Given the description of an element on the screen output the (x, y) to click on. 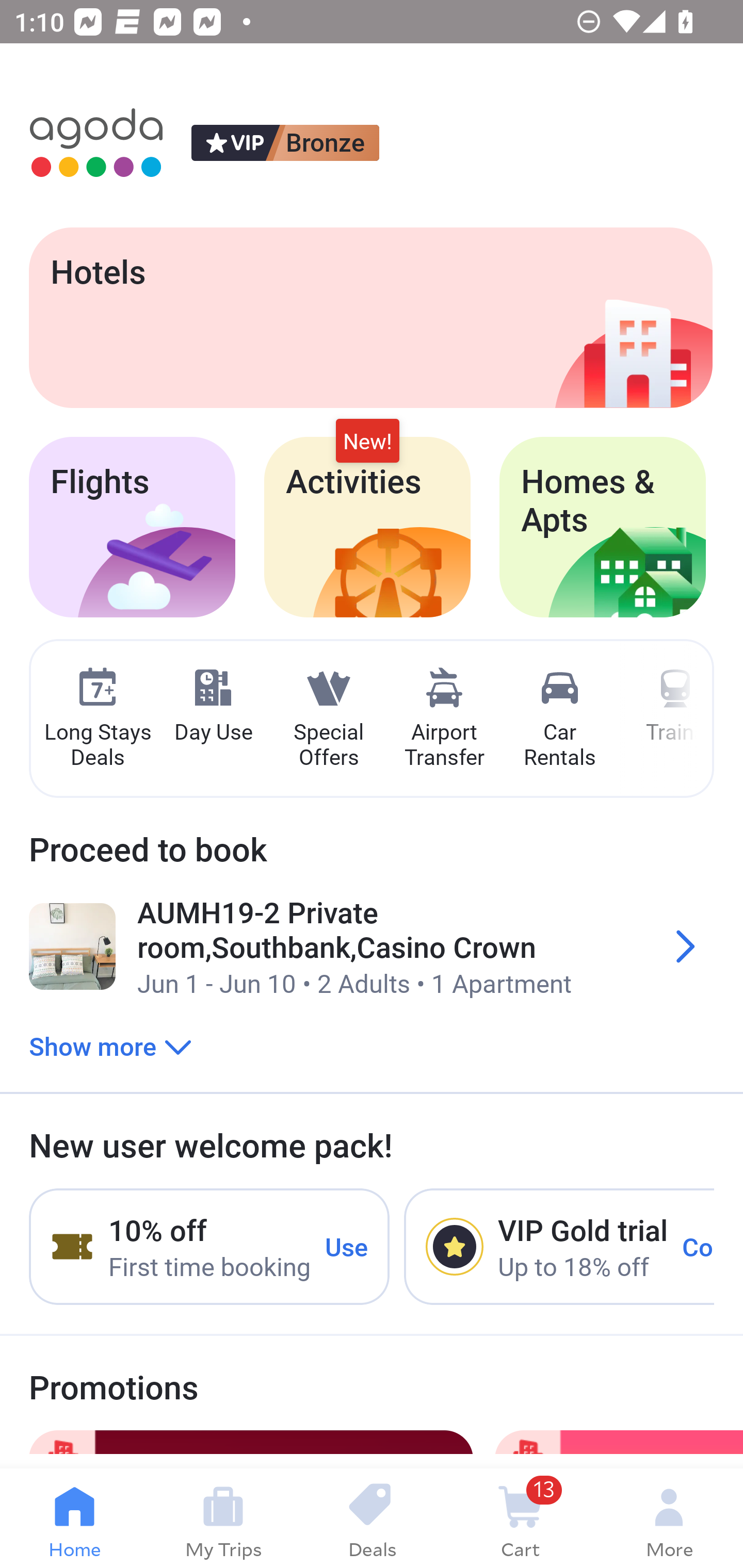
Hotels (370, 317)
New! (367, 441)
Flights (131, 527)
Activities (367, 527)
Homes & Apts (602, 527)
Day Use (213, 706)
Long Stays Deals (97, 718)
Special Offers (328, 718)
Airport Transfer (444, 718)
Car Rentals (559, 718)
Show more (110, 1045)
Use (346, 1246)
Home (74, 1518)
My Trips (222, 1518)
Deals (371, 1518)
13 Cart (519, 1518)
More (668, 1518)
